Given the description of an element on the screen output the (x, y) to click on. 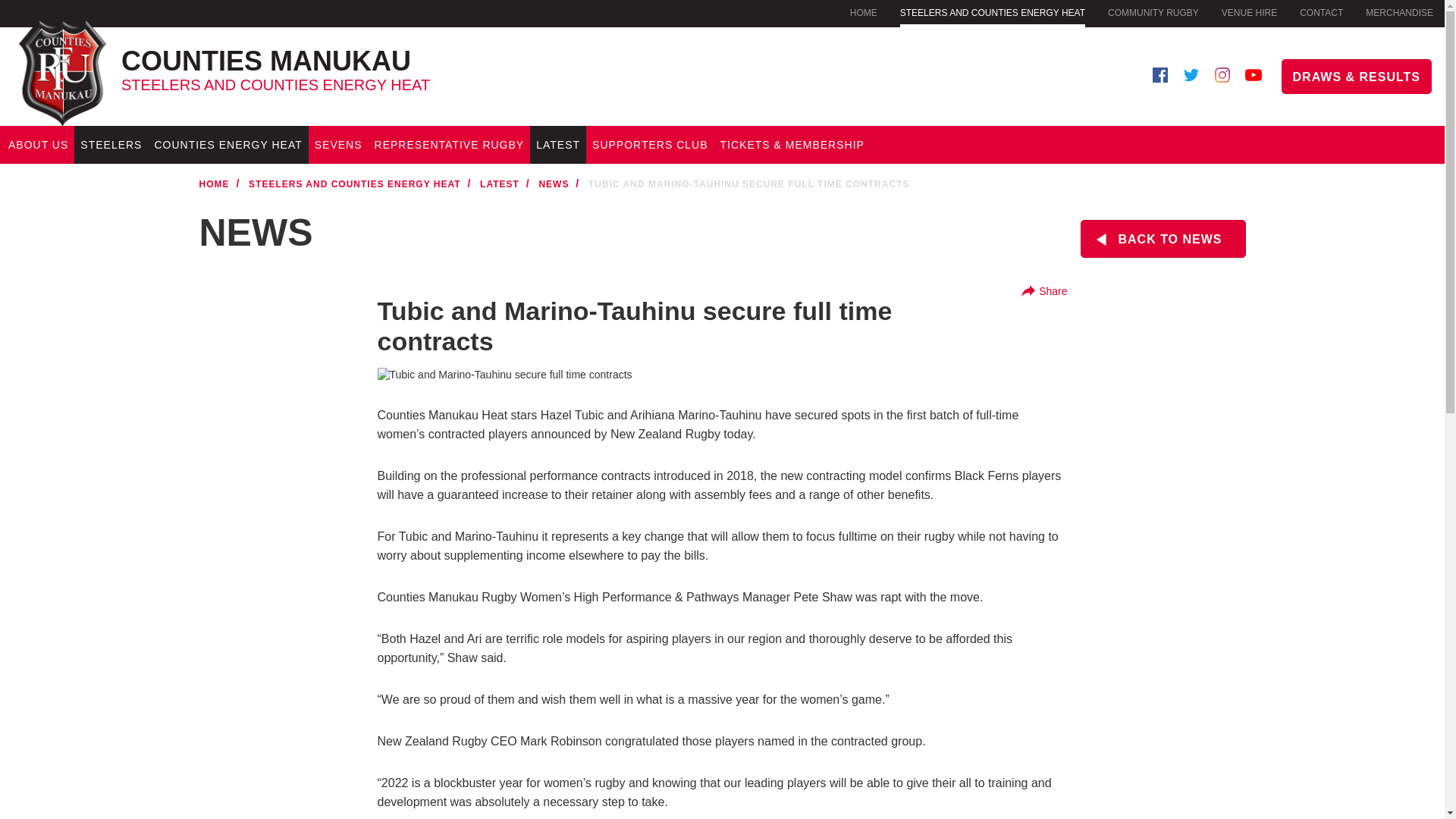
CONTACT (364, 63)
MERCHANDISE (1321, 12)
ABOUT US (1398, 12)
REPRESENTATIVE RUGBY (38, 144)
SEVENS (449, 144)
COUNTIES ENERGY HEAT (338, 144)
COMMUNITY RUGBY (227, 144)
STEELERS (1153, 12)
HOME (111, 144)
